Given the description of an element on the screen output the (x, y) to click on. 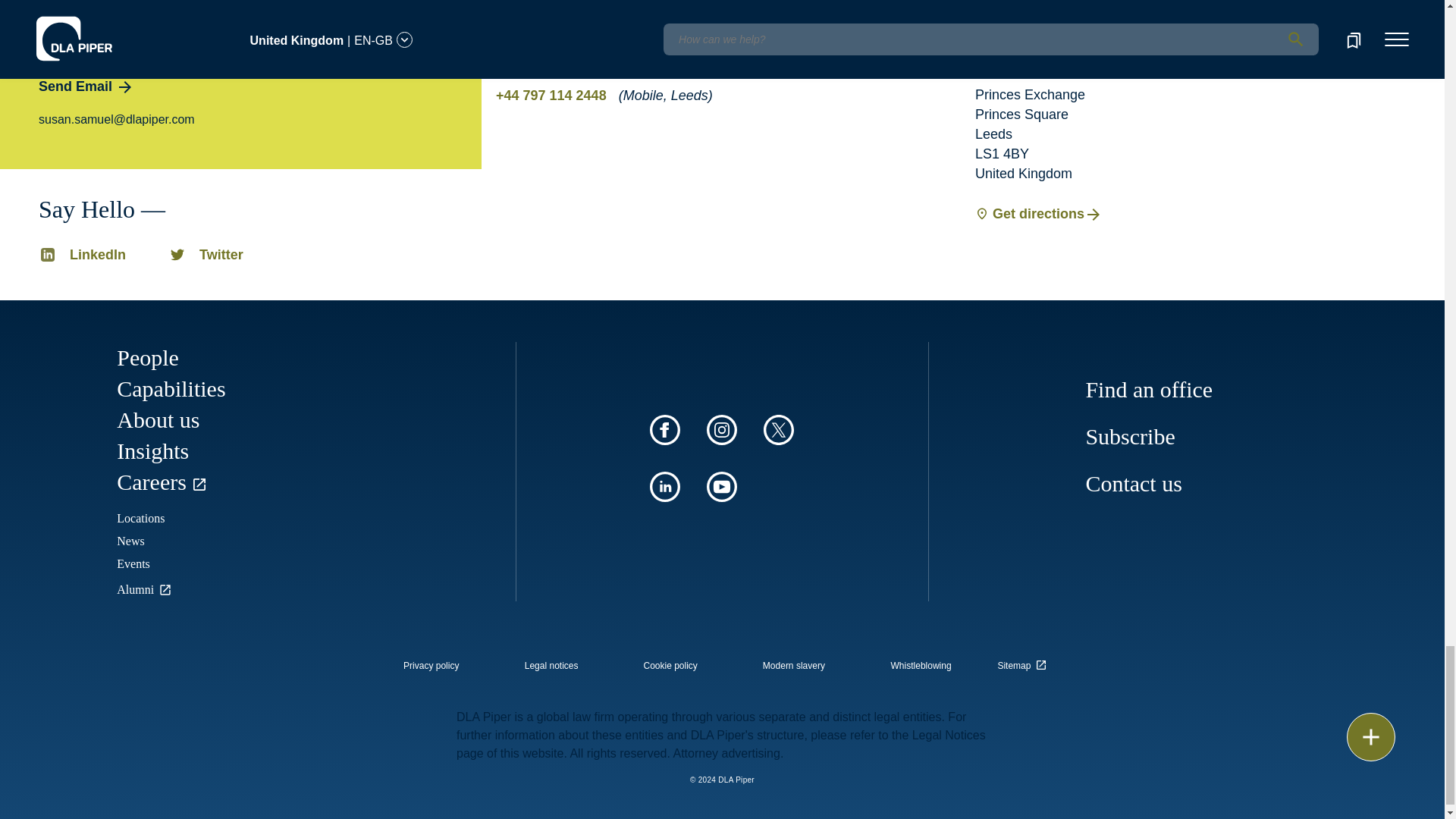
external (1024, 661)
internal (793, 666)
internal (549, 666)
internal (920, 666)
internal (670, 666)
internal (430, 666)
